Given the description of an element on the screen output the (x, y) to click on. 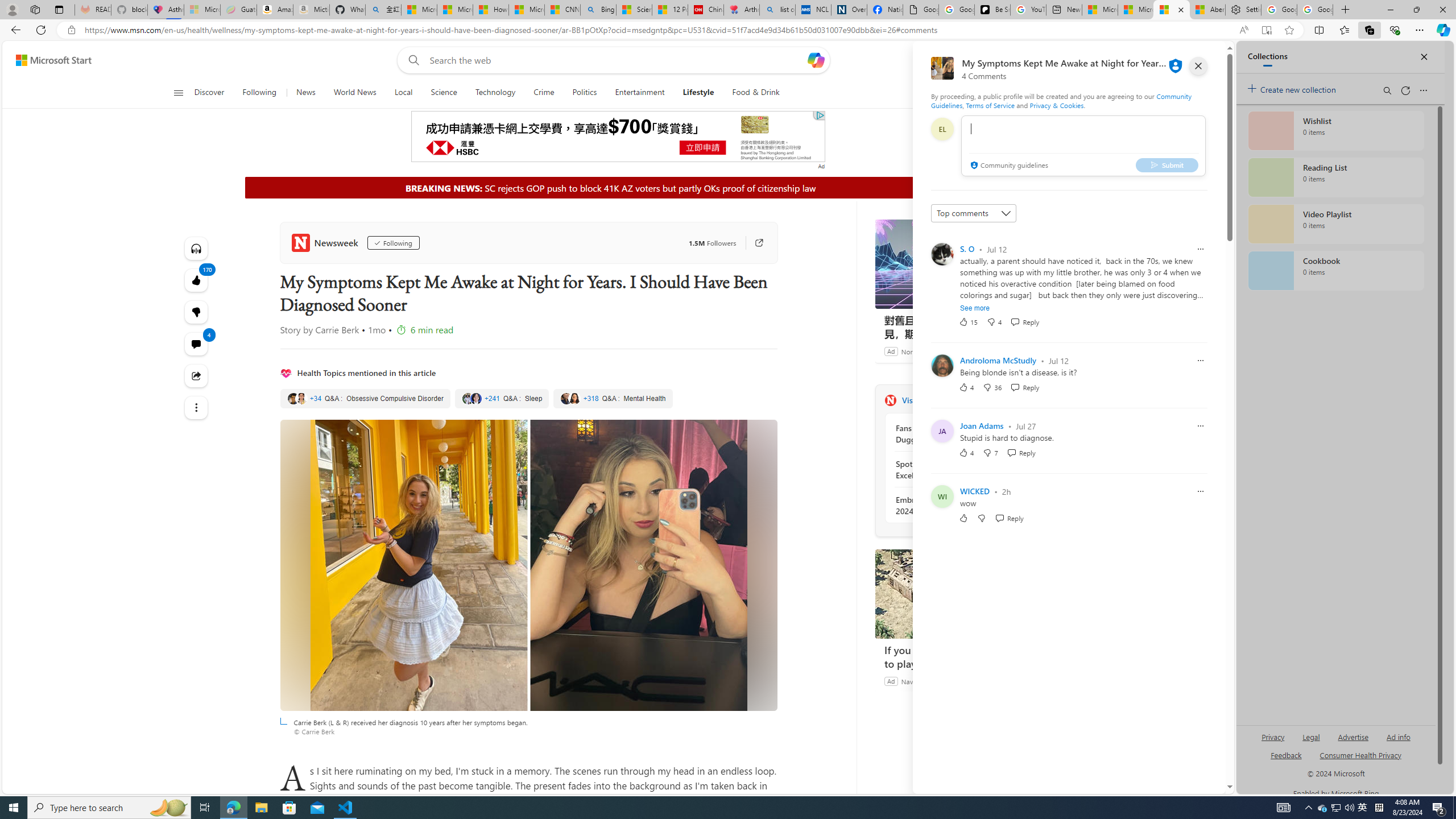
AutomationID: canvas (617, 136)
